Given the description of an element on the screen output the (x, y) to click on. 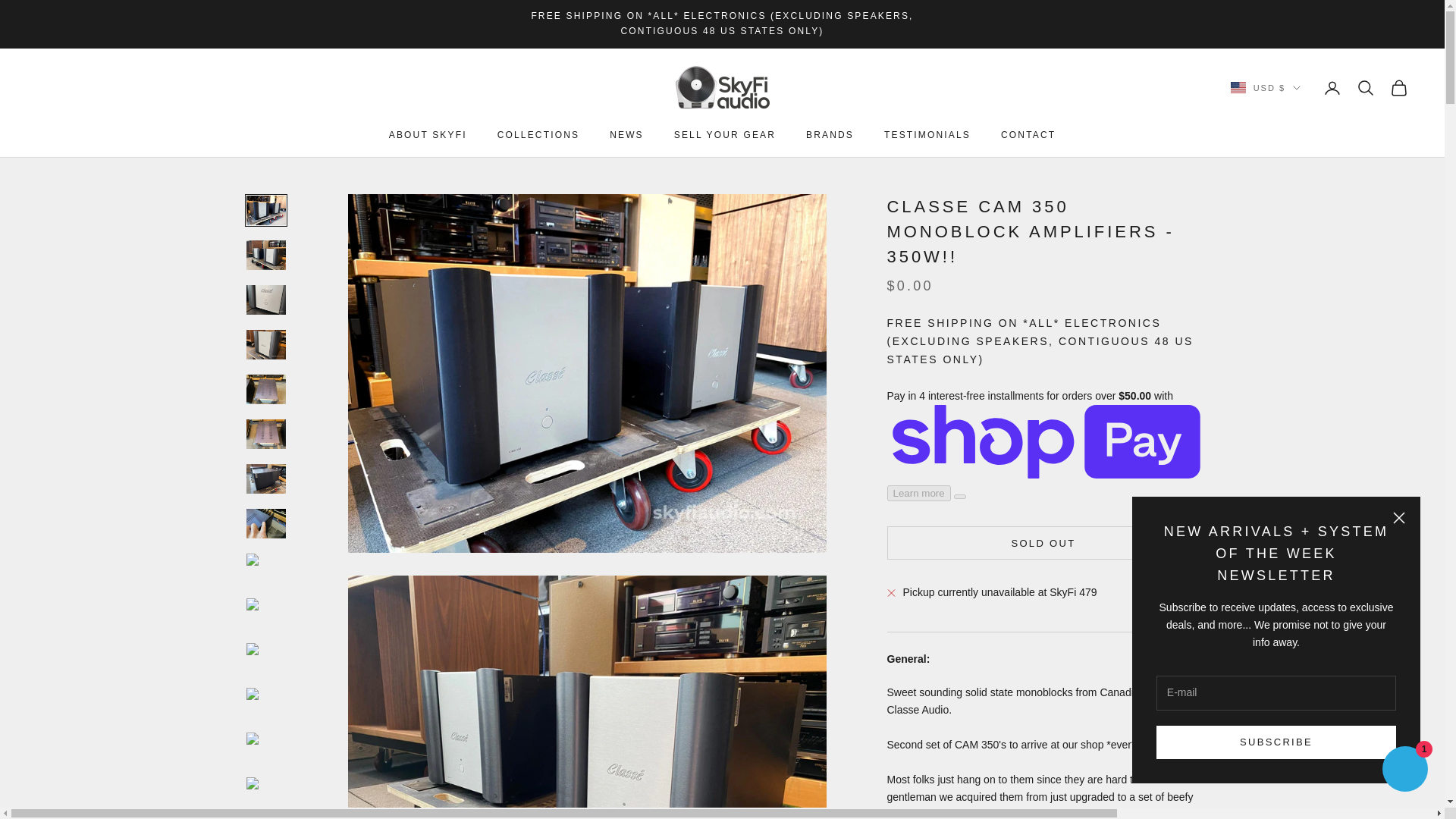
SkyFi Audio (721, 88)
Newsletter popup (1276, 639)
Shopify online store chat (1404, 770)
